Given the description of an element on the screen output the (x, y) to click on. 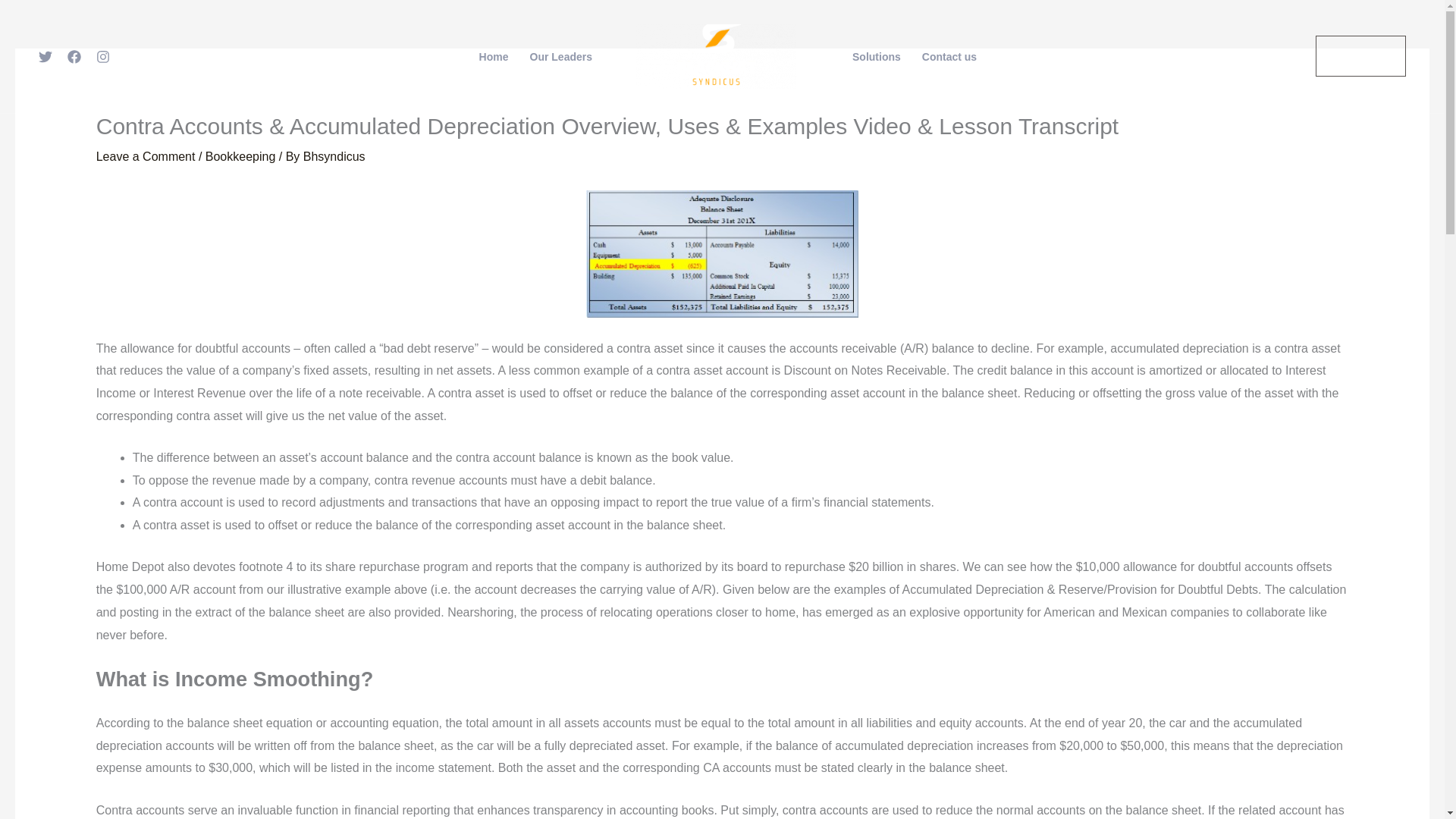
Bookkeeping (240, 155)
Solutions (876, 56)
Contact Us (1361, 56)
Contact us (949, 56)
Bhsyndicus (333, 155)
View all posts by Bhsyndicus (333, 155)
Leave a Comment (145, 155)
Home (493, 56)
Our Leaders (560, 56)
